Given the description of an element on the screen output the (x, y) to click on. 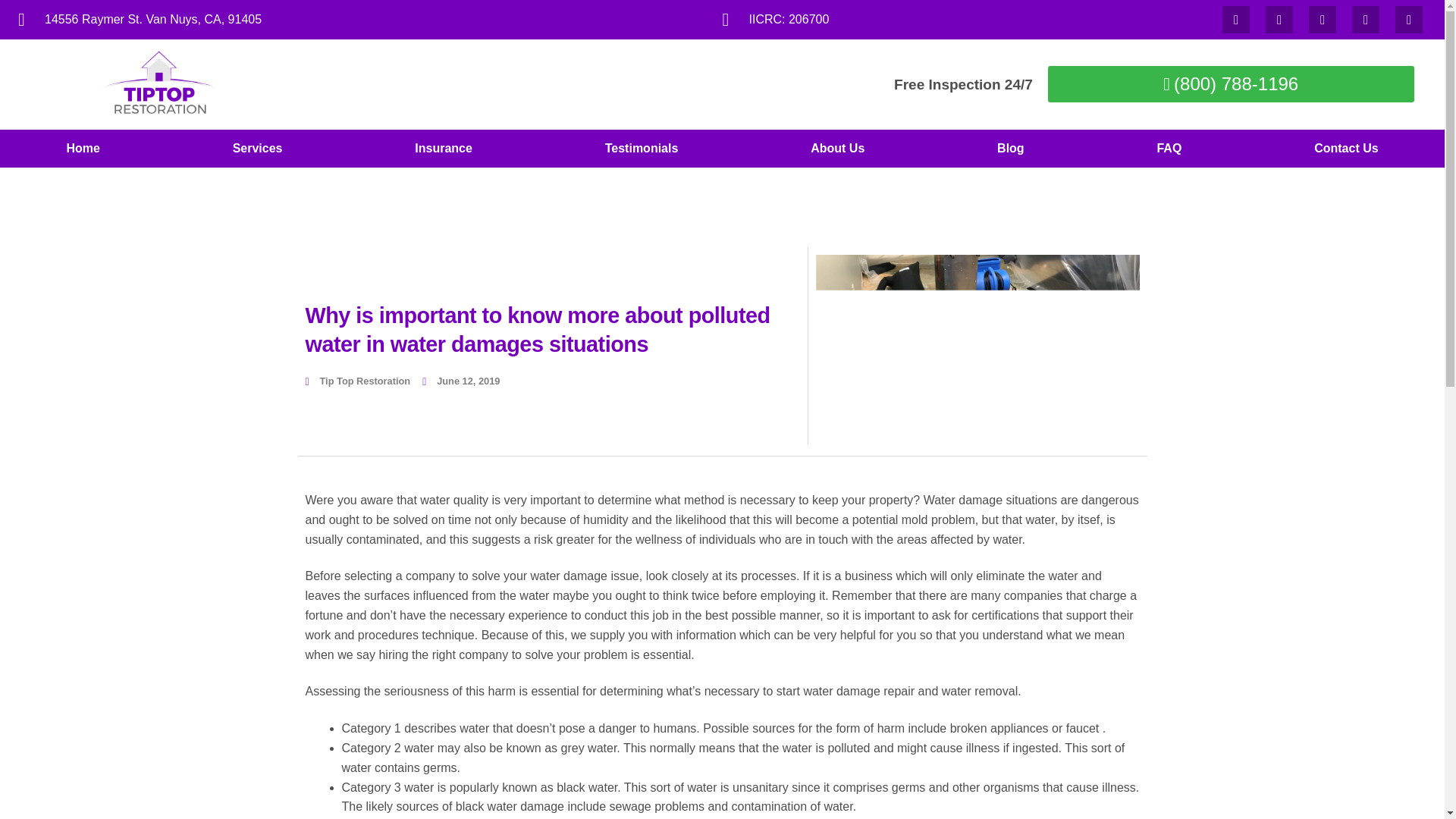
Blog (1010, 148)
About Us (837, 148)
Testimonials (641, 148)
Tip Top Restoration (357, 381)
Insurance (443, 148)
FAQ (1168, 148)
Home (82, 148)
Services (257, 148)
